Given the description of an element on the screen output the (x, y) to click on. 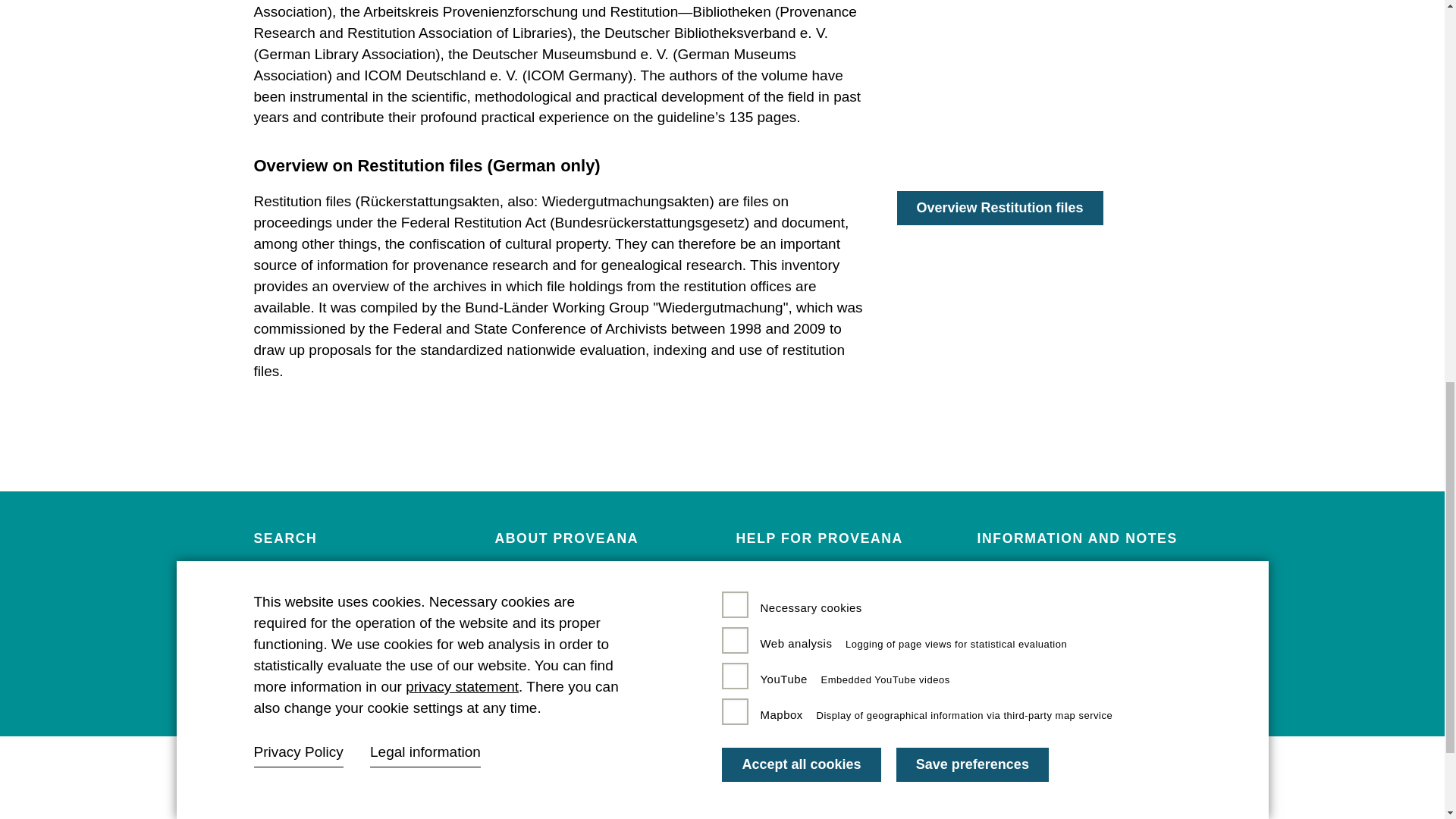
Up (1389, 126)
Overview Restitution files (999, 207)
Topics (274, 621)
Up (1389, 126)
